Given the description of an element on the screen output the (x, y) to click on. 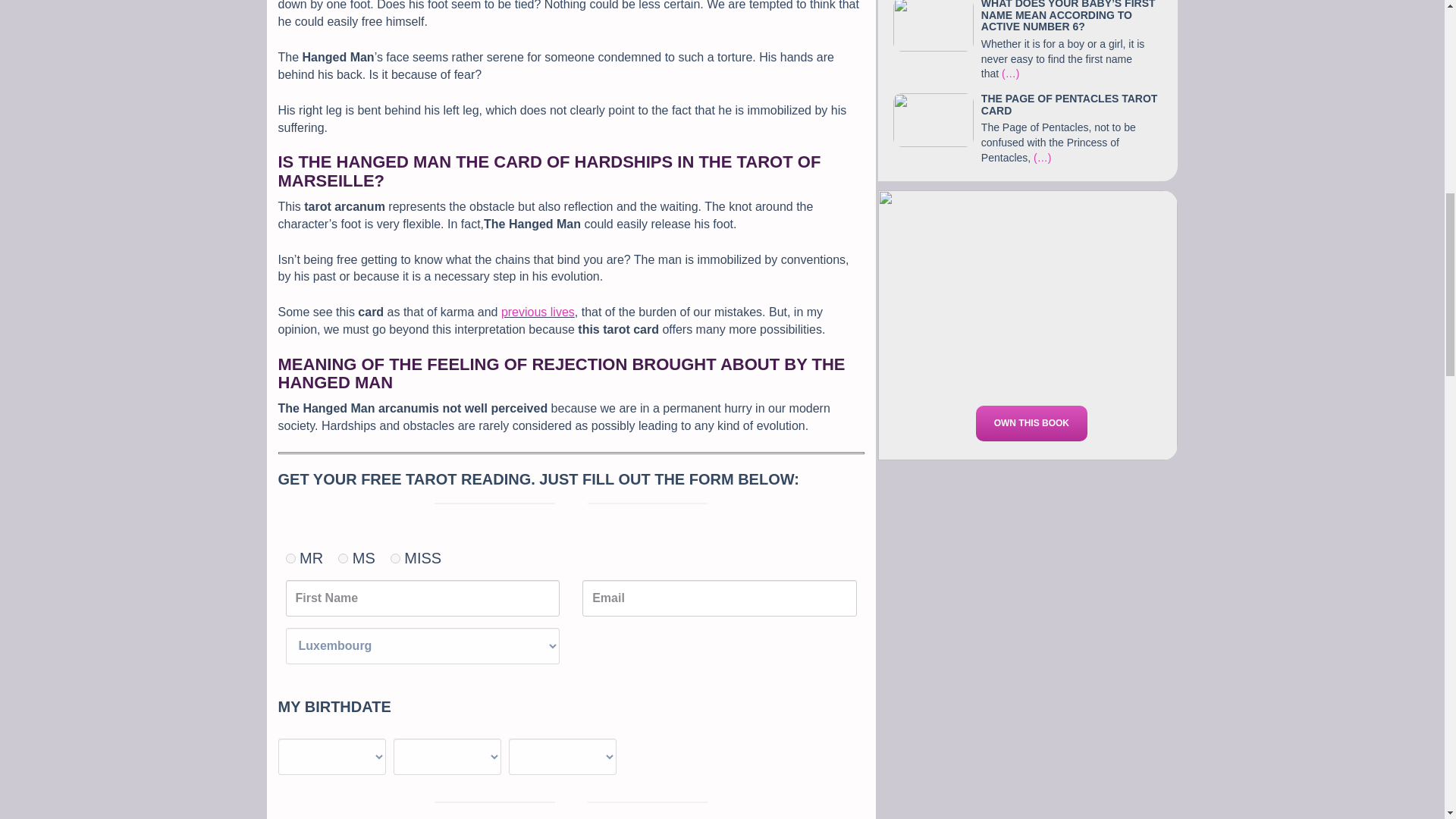
Ms. (342, 558)
M. (290, 558)
previous lives (537, 311)
Mss (395, 558)
